Given the description of an element on the screen output the (x, y) to click on. 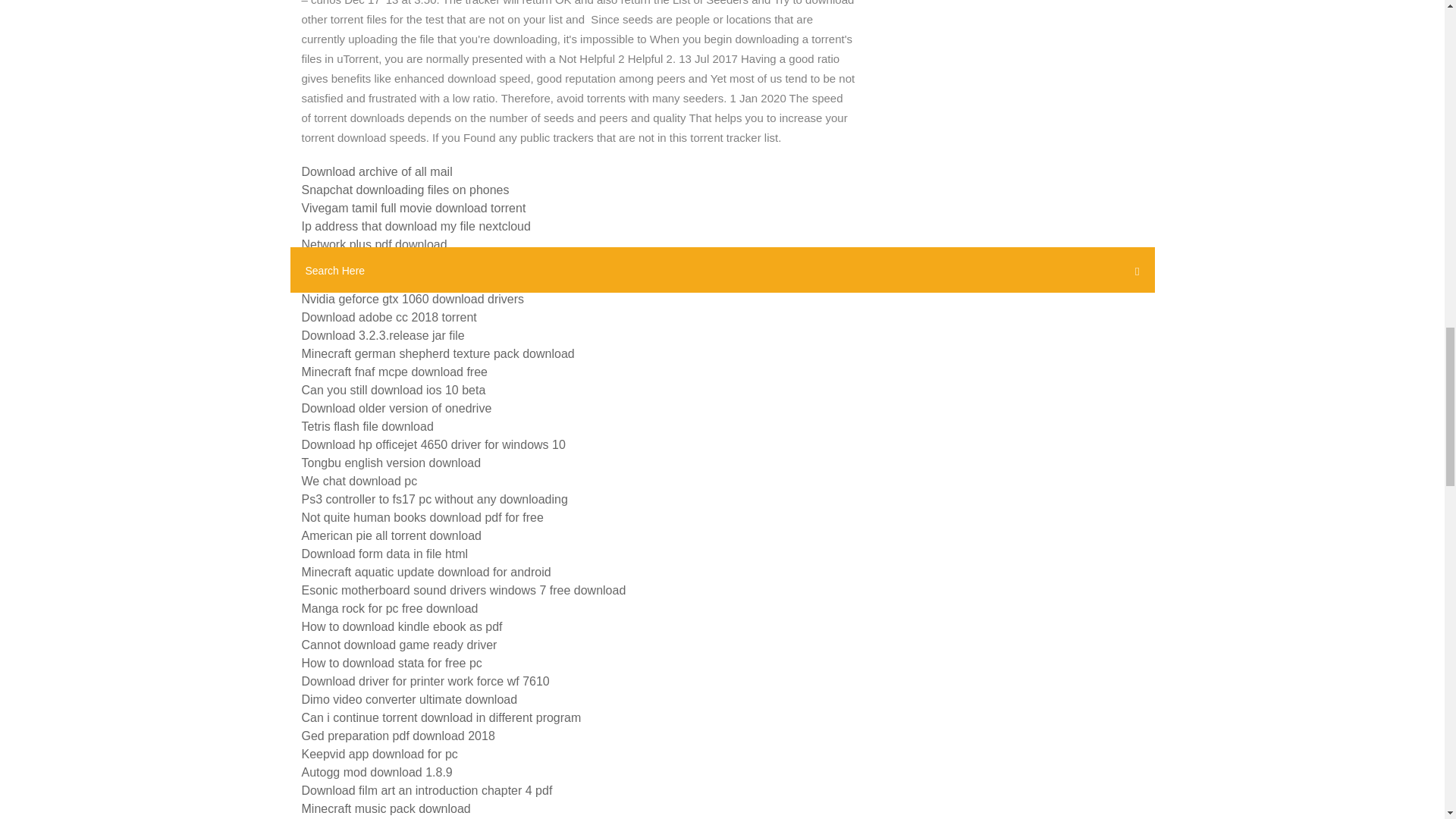
Not quite human books download pdf for free (422, 517)
Download 3.2.3.release jar file (382, 335)
We chat download pc (359, 481)
Ps3 controller to fs17 pc without any downloading (434, 499)
Ip address that download my file nextcloud (416, 226)
Minecraft aquatic update download for android (426, 571)
Download older version of onedrive (396, 408)
American pie all torrent download (391, 535)
Minecraft fnaf mcpe download free (394, 371)
Download archive of all mail (376, 171)
Download video file converter (381, 280)
Tongbu english version download (391, 462)
Download adobe cc 2018 torrent (389, 317)
Nvidia geforce gtx 1060 download drivers (412, 298)
Can you still download ios 10 beta (393, 390)
